Given the description of an element on the screen output the (x, y) to click on. 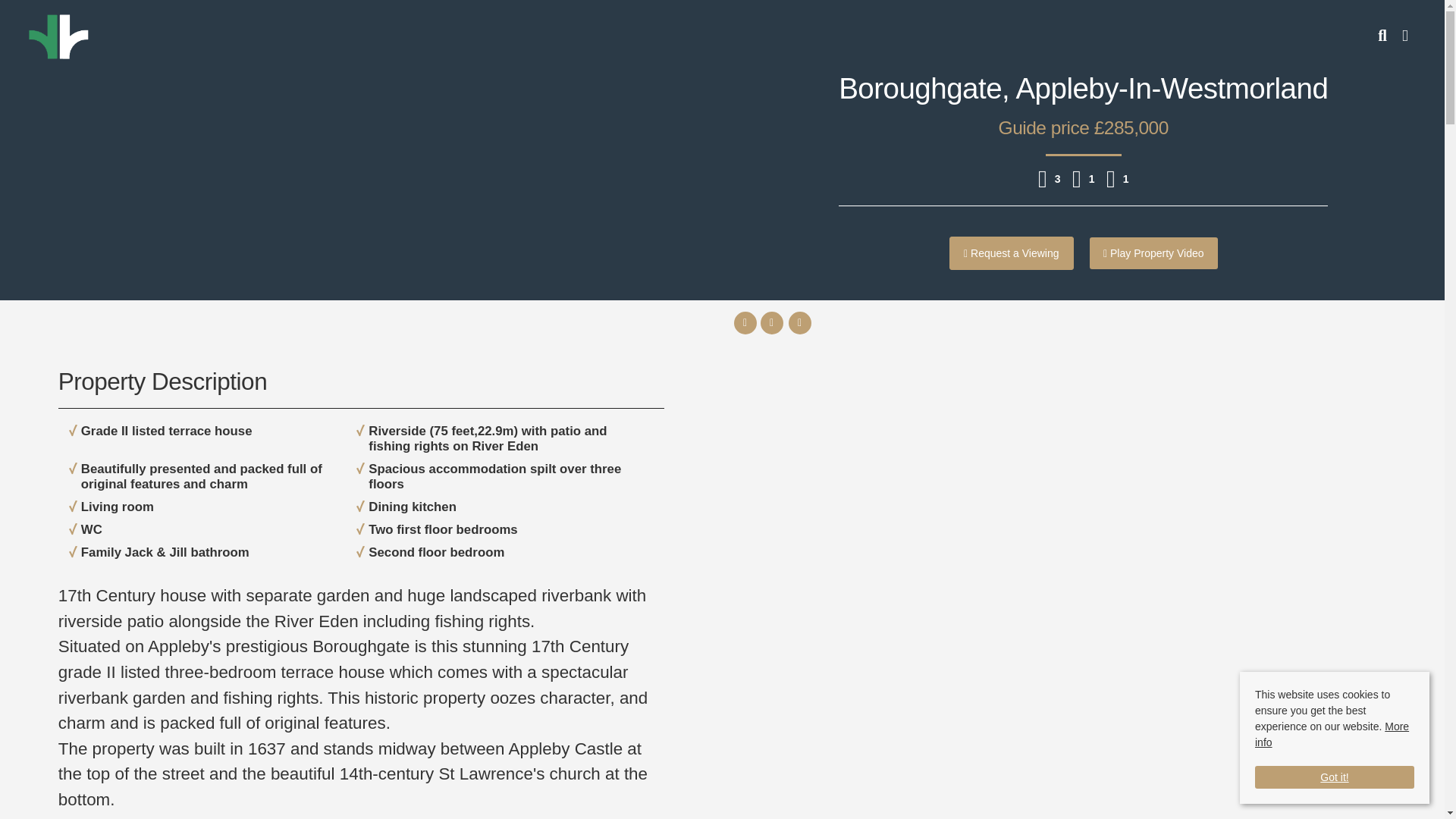
Play Property Video (1153, 253)
Request a Viewing (1011, 253)
